Given the description of an element on the screen output the (x, y) to click on. 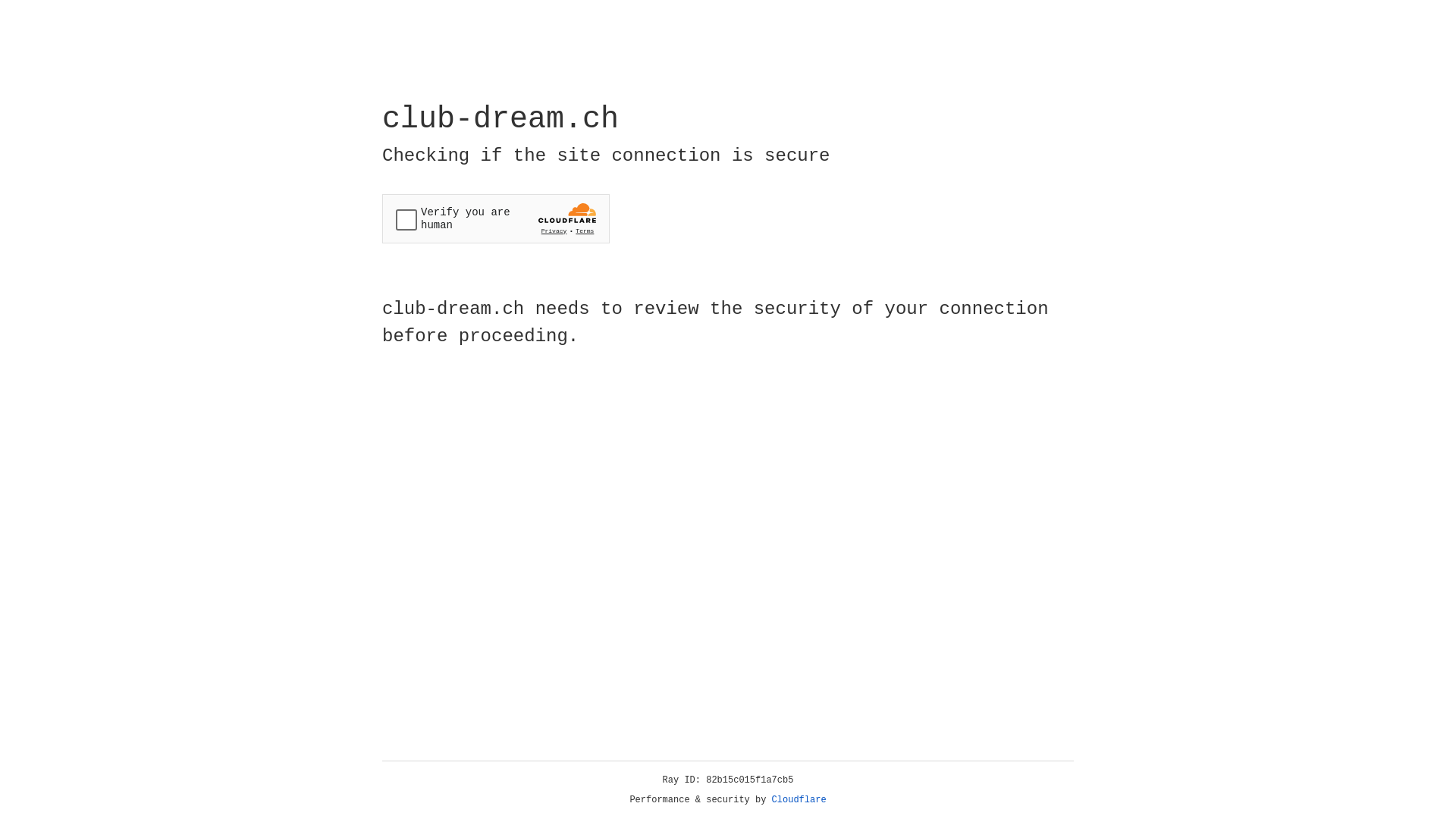
Widget containing a Cloudflare security challenge Element type: hover (495, 218)
Cloudflare Element type: text (798, 799)
